Given the description of an element on the screen output the (x, y) to click on. 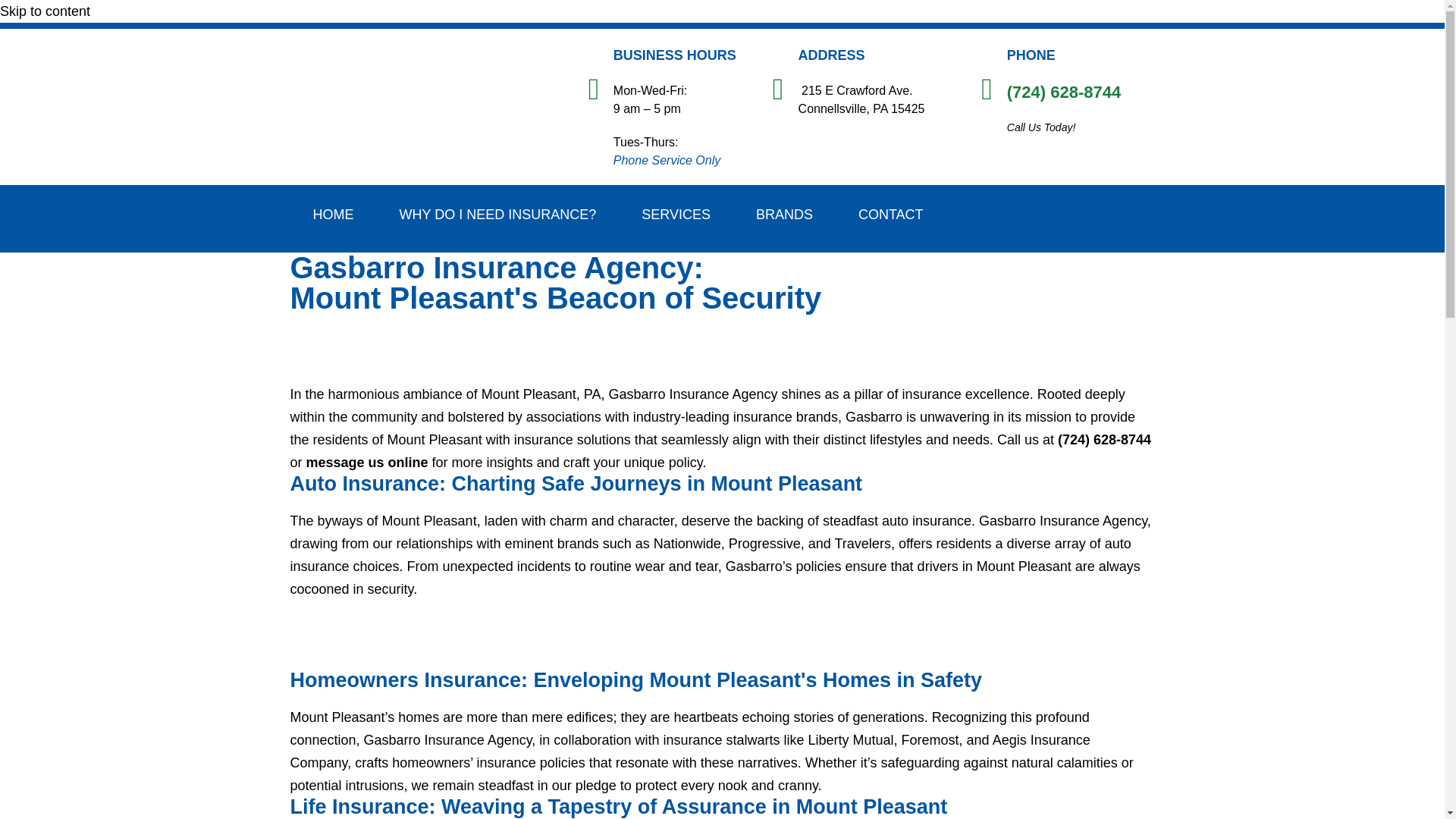
HOME (332, 214)
Skip to content (45, 11)
message us online (366, 462)
SERVICES (675, 214)
CONTACT (890, 214)
WHY DO I NEED INSURANCE? (496, 214)
BRANDS (784, 214)
